Given the description of an element on the screen output the (x, y) to click on. 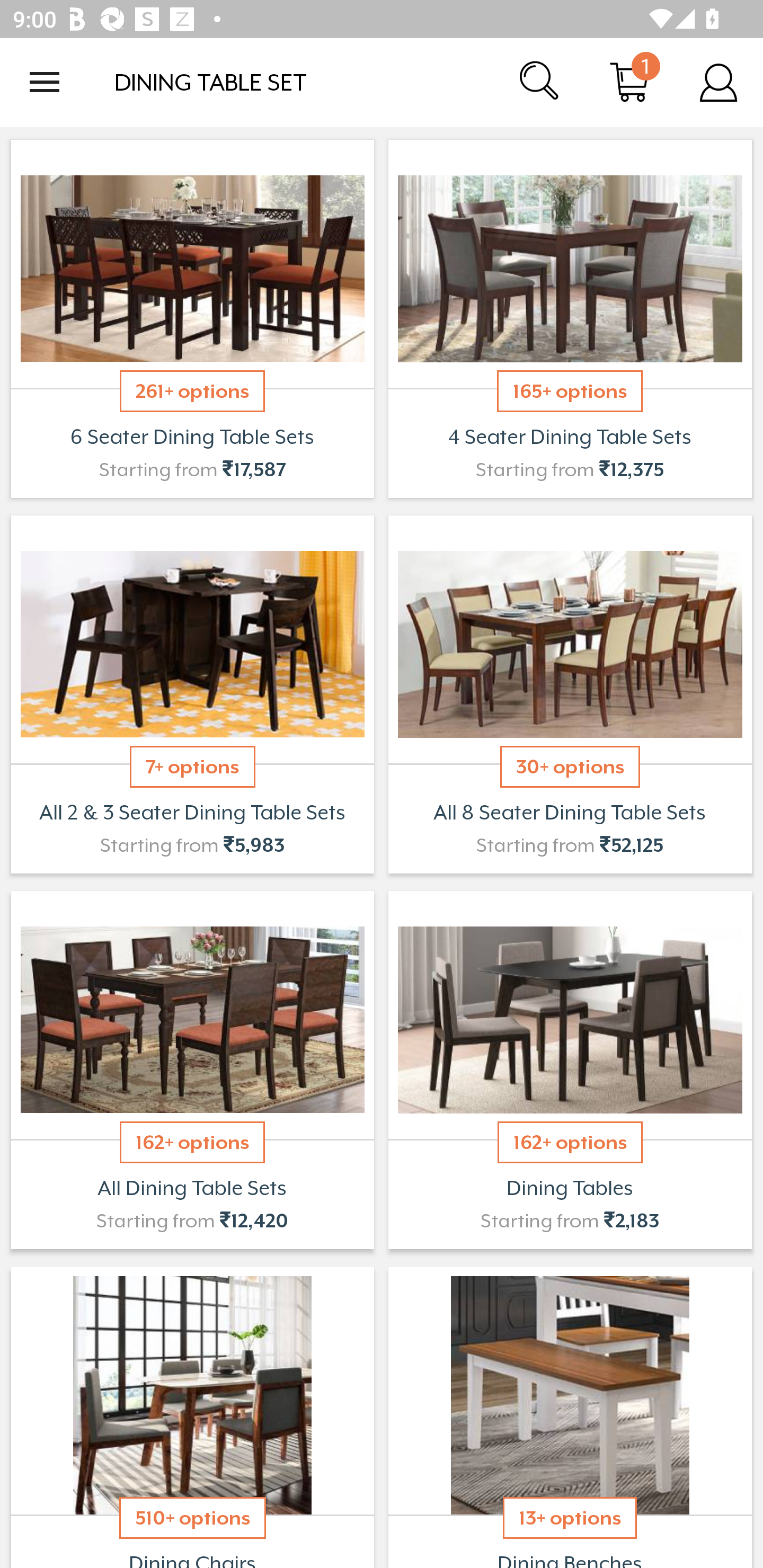
Open navigation drawer (44, 82)
Search (540, 81)
Cart (629, 81)
Account Details (718, 81)
162+ options Dining Tables Starting from  ₹2,183 (570, 1069)
510+ options Dining Chairs (191, 1415)
13+ options Dining Benches (570, 1415)
